Given the description of an element on the screen output the (x, y) to click on. 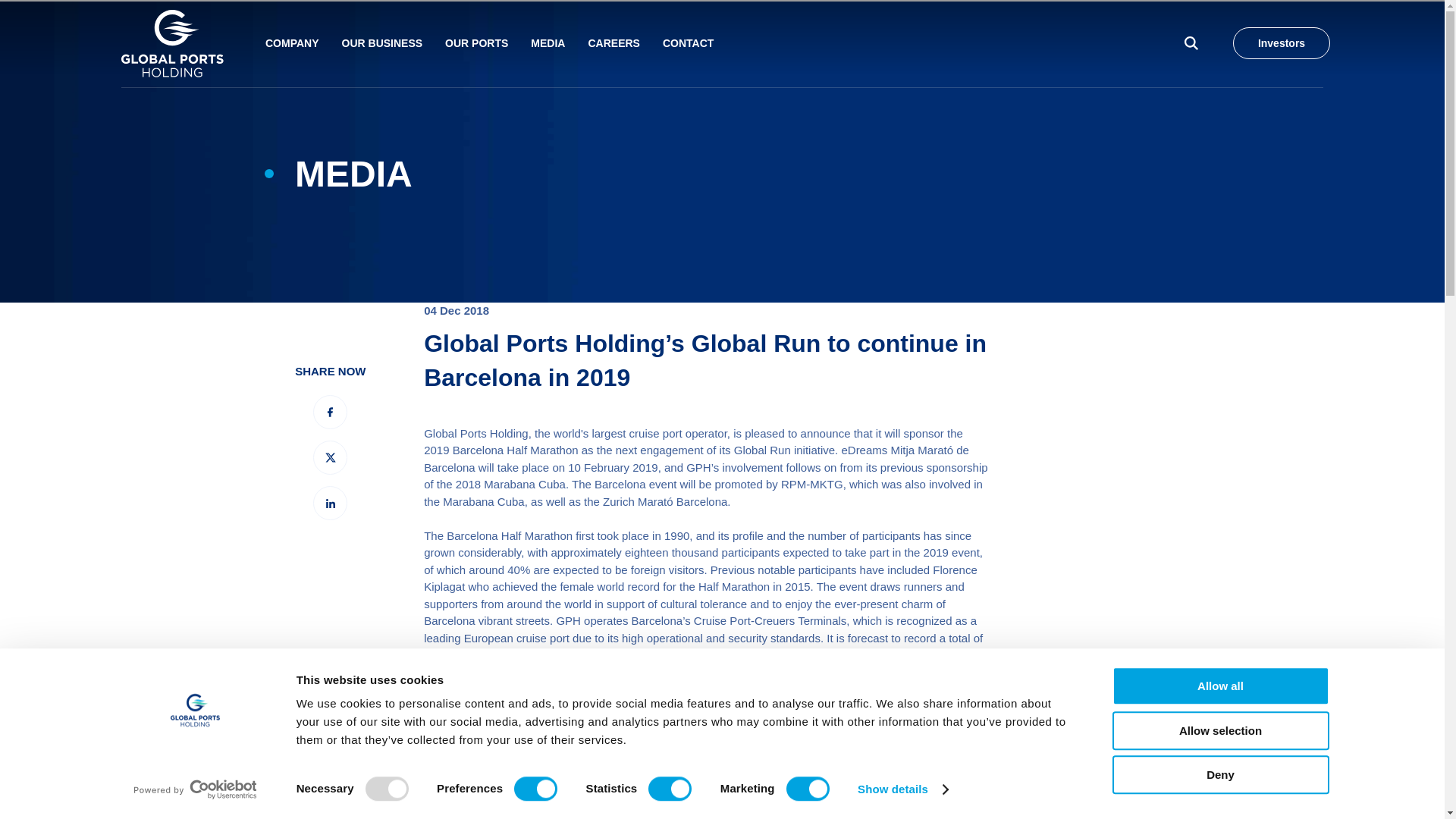
Show details (902, 789)
Deny (1219, 774)
Allow selection (1219, 730)
Allow all (1219, 685)
COMPANY (291, 43)
